Given the description of an element on the screen output the (x, y) to click on. 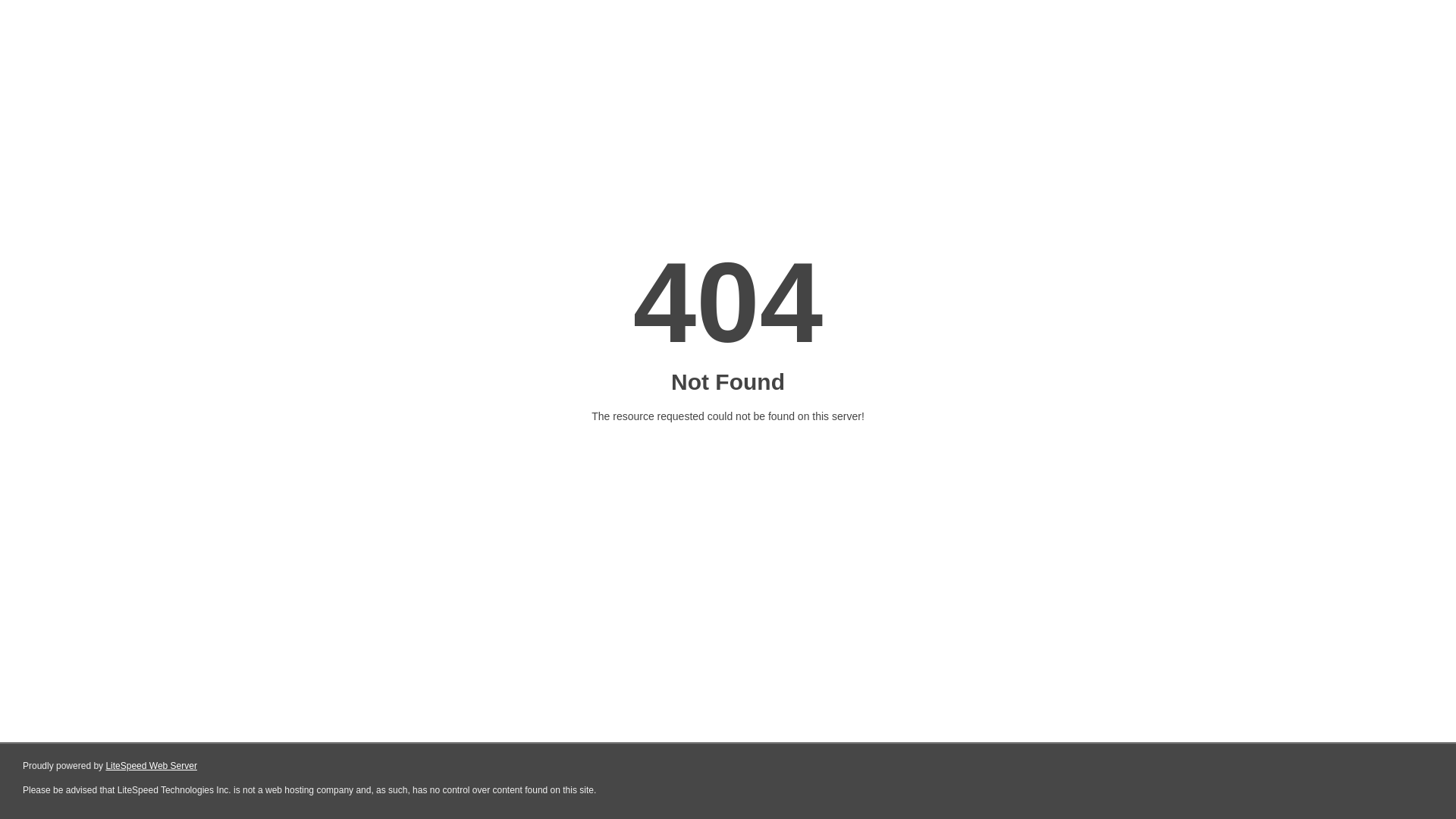
LiteSpeed Web Server Element type: text (151, 765)
